Given the description of an element on the screen output the (x, y) to click on. 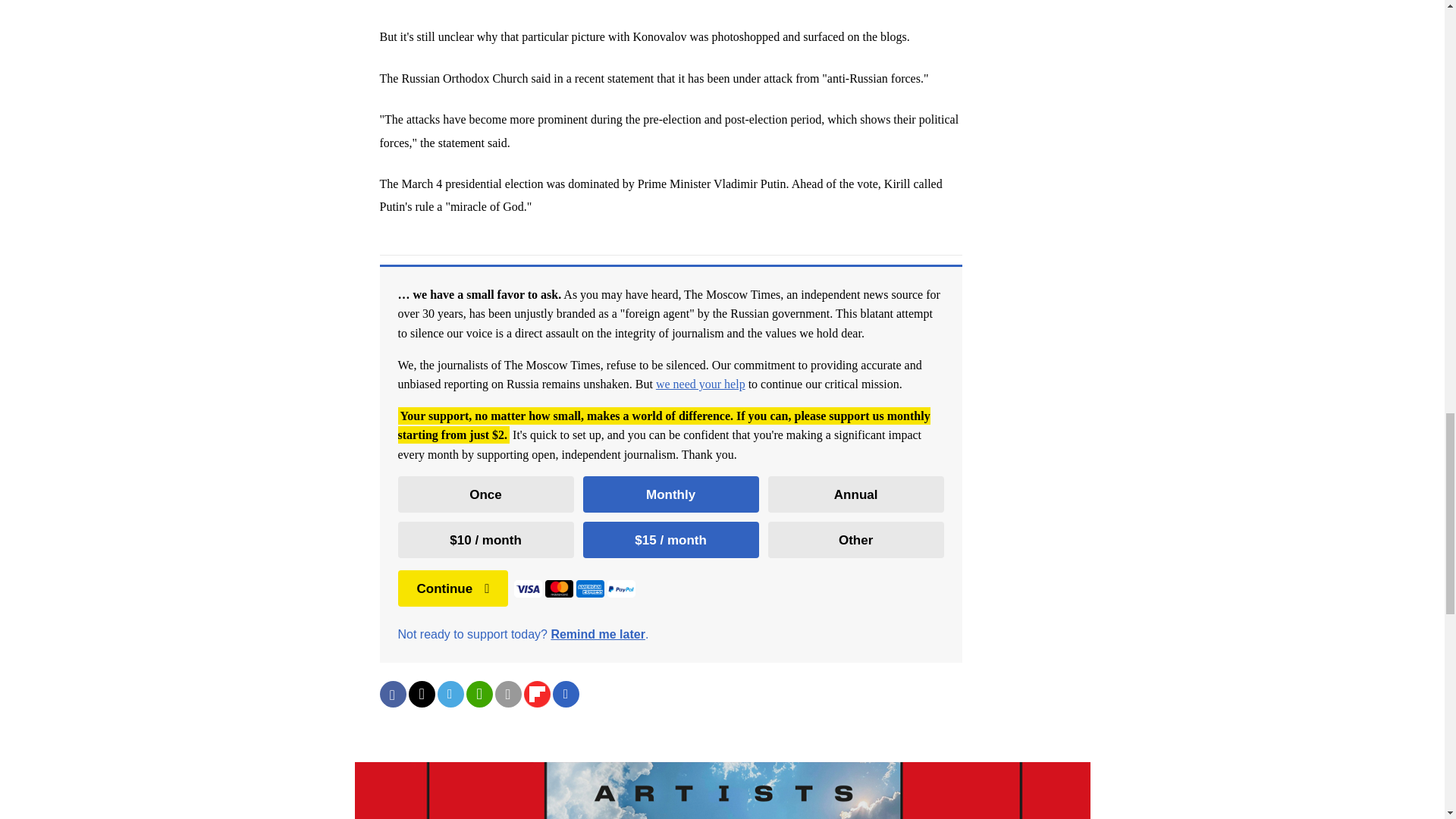
Share on Twitter (420, 693)
we need your help (700, 383)
Share on Facebook (392, 693)
Share on Telegram (449, 693)
Share on Flipboard (536, 693)
